Given the description of an element on the screen output the (x, y) to click on. 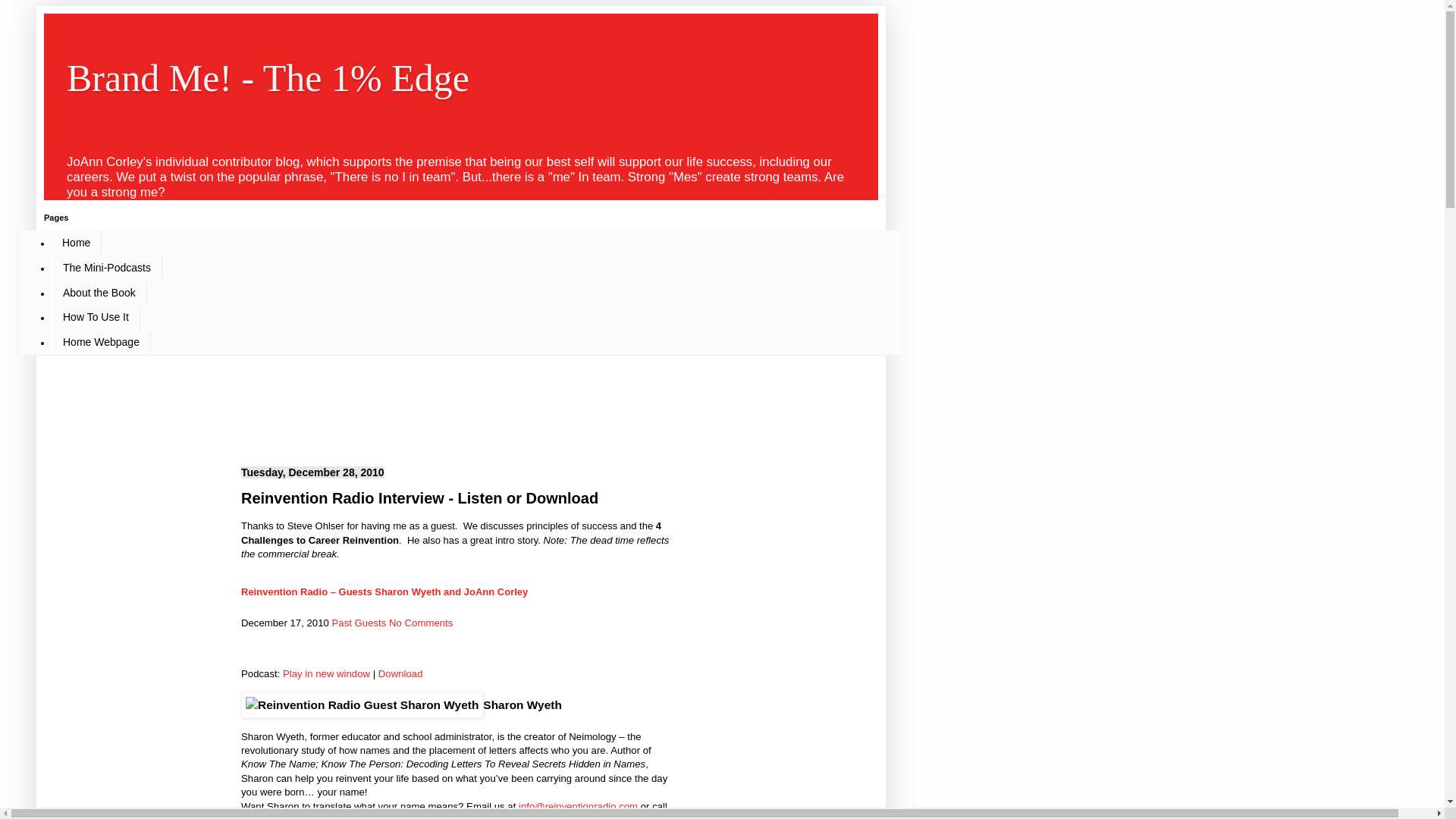
The Mini-Podcasts (105, 267)
Play in new window (325, 673)
Home (75, 242)
View all posts in Past Guests (359, 622)
Advertisement (410, 397)
Download (400, 673)
About the Book (98, 292)
Download (400, 673)
www.KnowTheName.com (461, 816)
How To Use It (94, 317)
Reinvention Radio Guest Sharon Wyeth (362, 705)
Home Webpage (100, 342)
Past Guests (359, 622)
No Comments (420, 622)
Play in new window (325, 673)
